Given the description of an element on the screen output the (x, y) to click on. 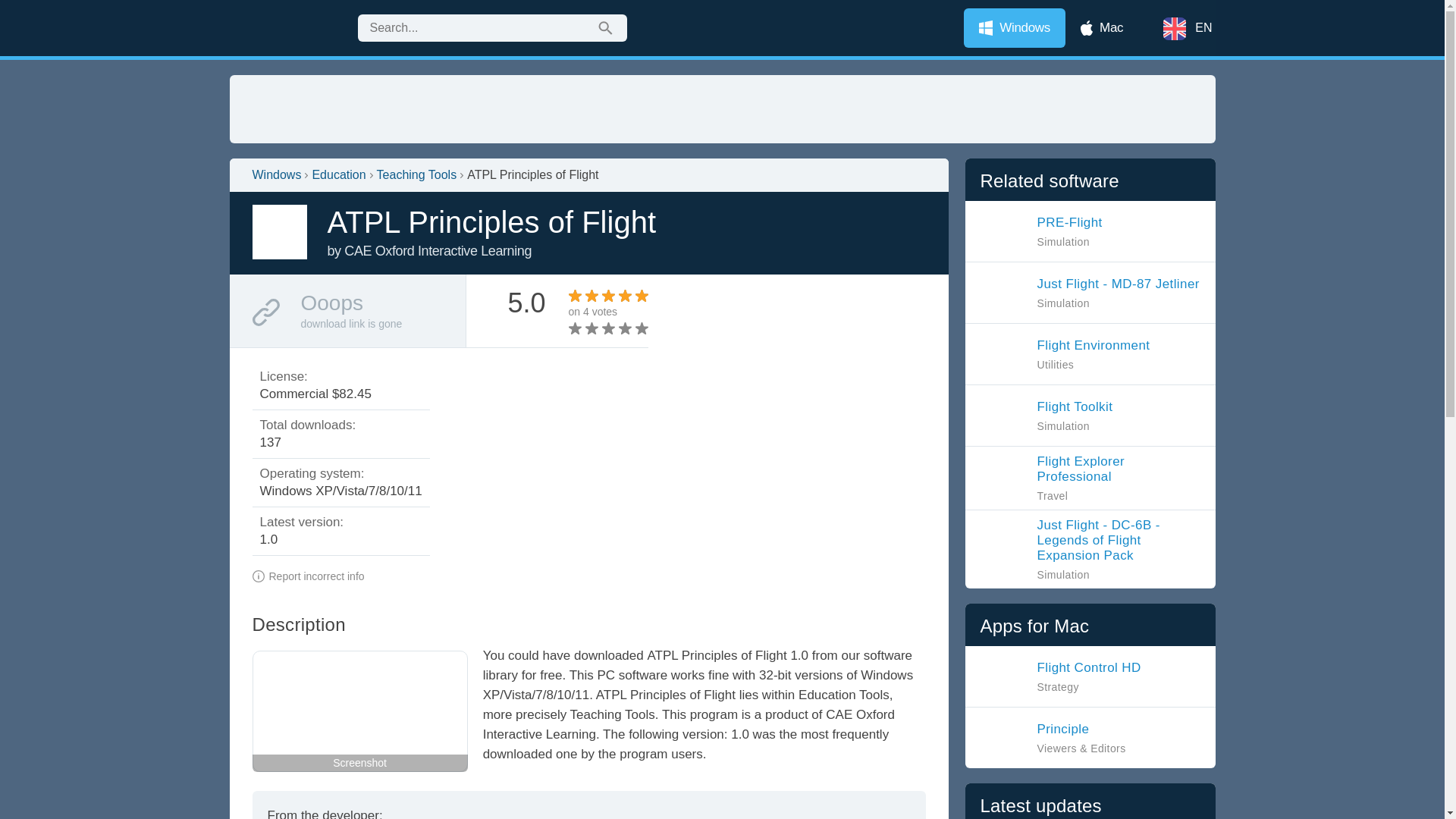
Education (1089, 478)
Teaching Tools (1064, 353)
4 (338, 174)
Just Flight - MD-87 Jetliner (417, 174)
5 (601, 328)
